Given the description of an element on the screen output the (x, y) to click on. 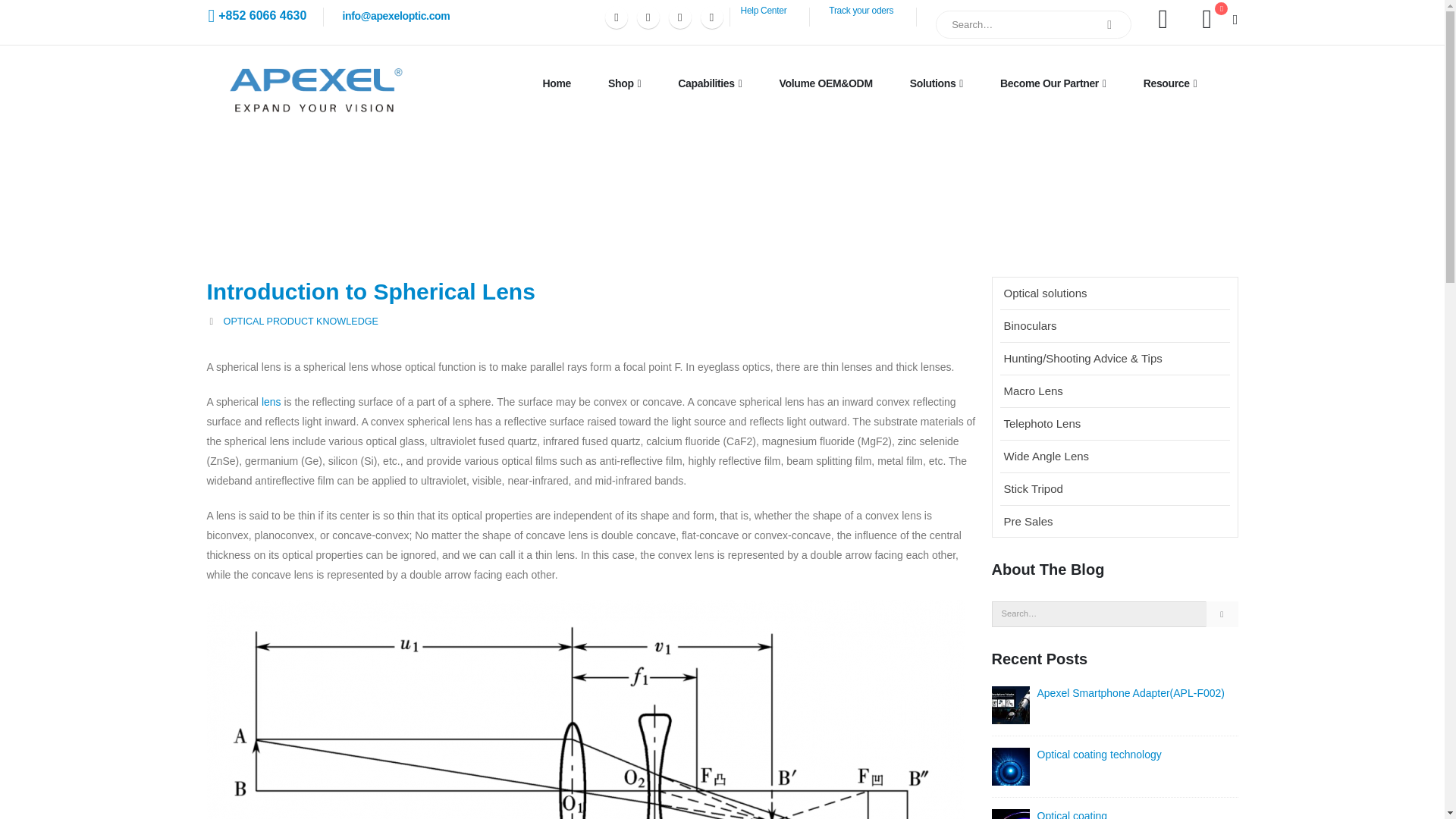
LinkedIn (711, 16)
Search (1109, 24)
Capabilities (709, 82)
Youtube (648, 16)
Facebook (616, 16)
Help Center (764, 9)
Instagram (679, 16)
Track your oders (860, 9)
Home (556, 82)
Shop (624, 82)
